Given the description of an element on the screen output the (x, y) to click on. 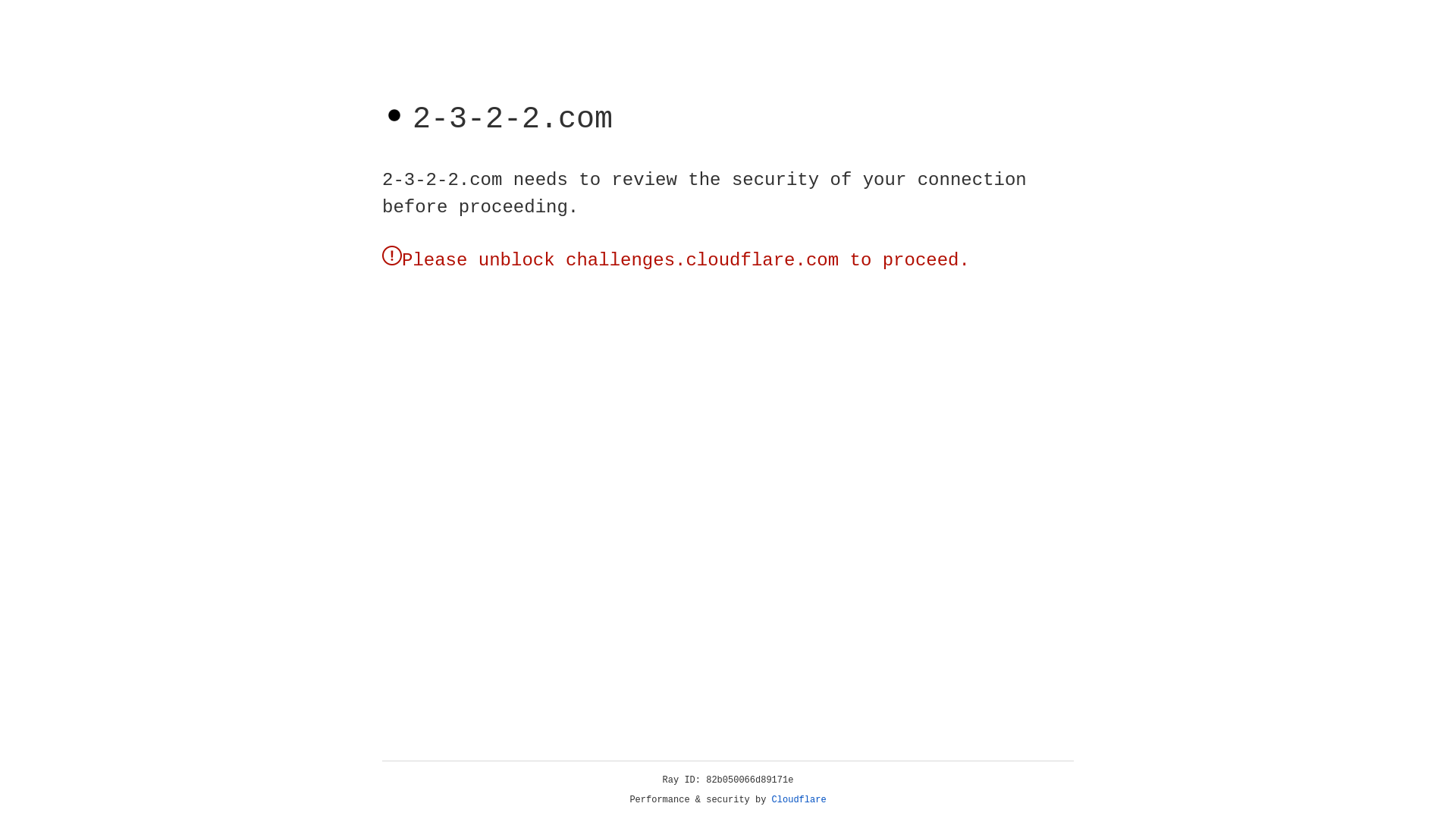
Cloudflare Element type: text (798, 799)
